Given the description of an element on the screen output the (x, y) to click on. 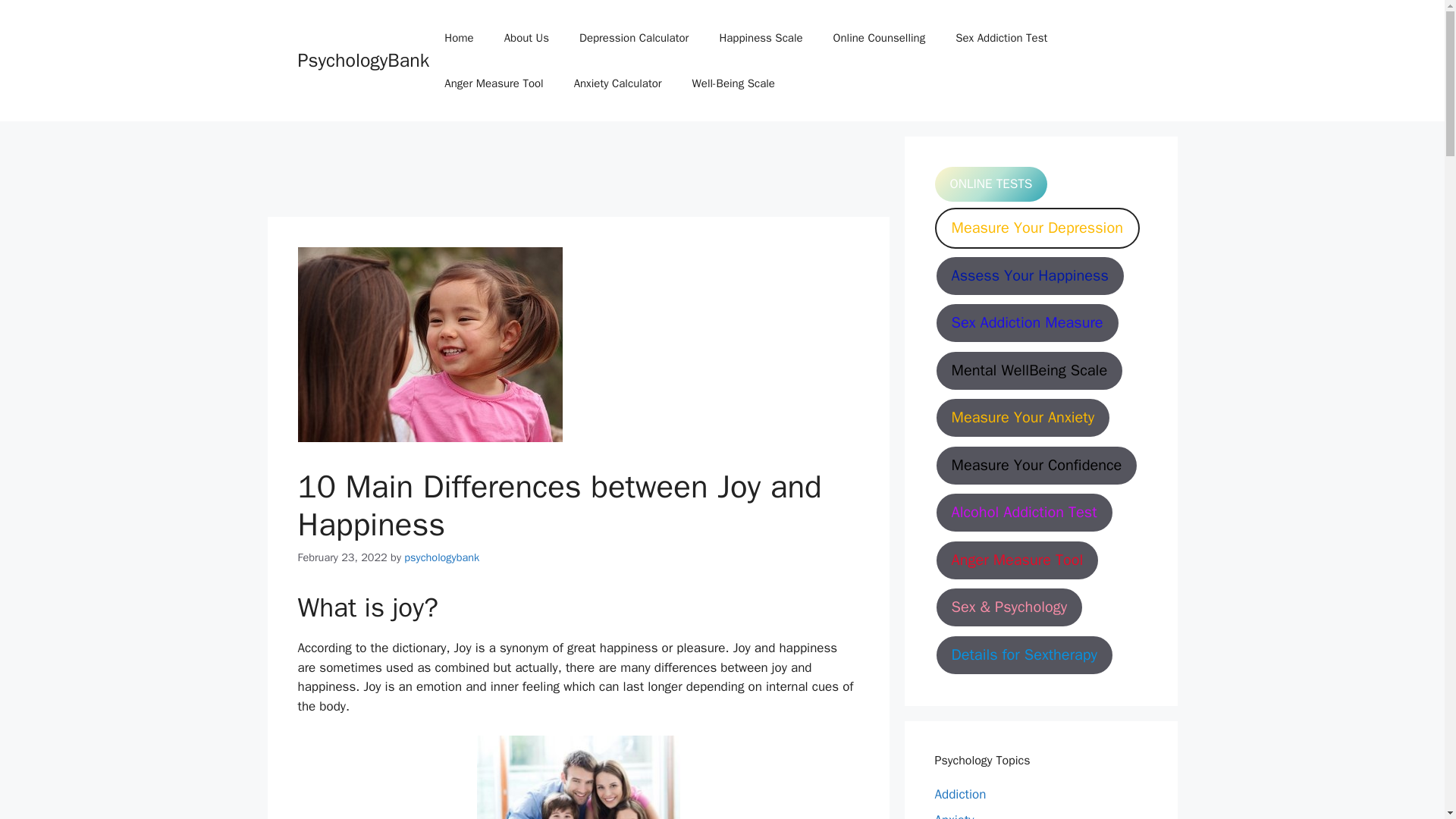
Well-Being Scale (733, 83)
psychologybank (441, 557)
Depression Calculator (633, 37)
Anxiety Calculator (618, 83)
Online Counselling (879, 37)
Anger Measure Tool (493, 83)
Home (458, 37)
PsychologyBank (363, 60)
View all posts by psychologybank (441, 557)
Sex Addiction Test (1001, 37)
Advertisement (380, 170)
About Us (526, 37)
Happiness Scale (759, 37)
